Given the description of an element on the screen output the (x, y) to click on. 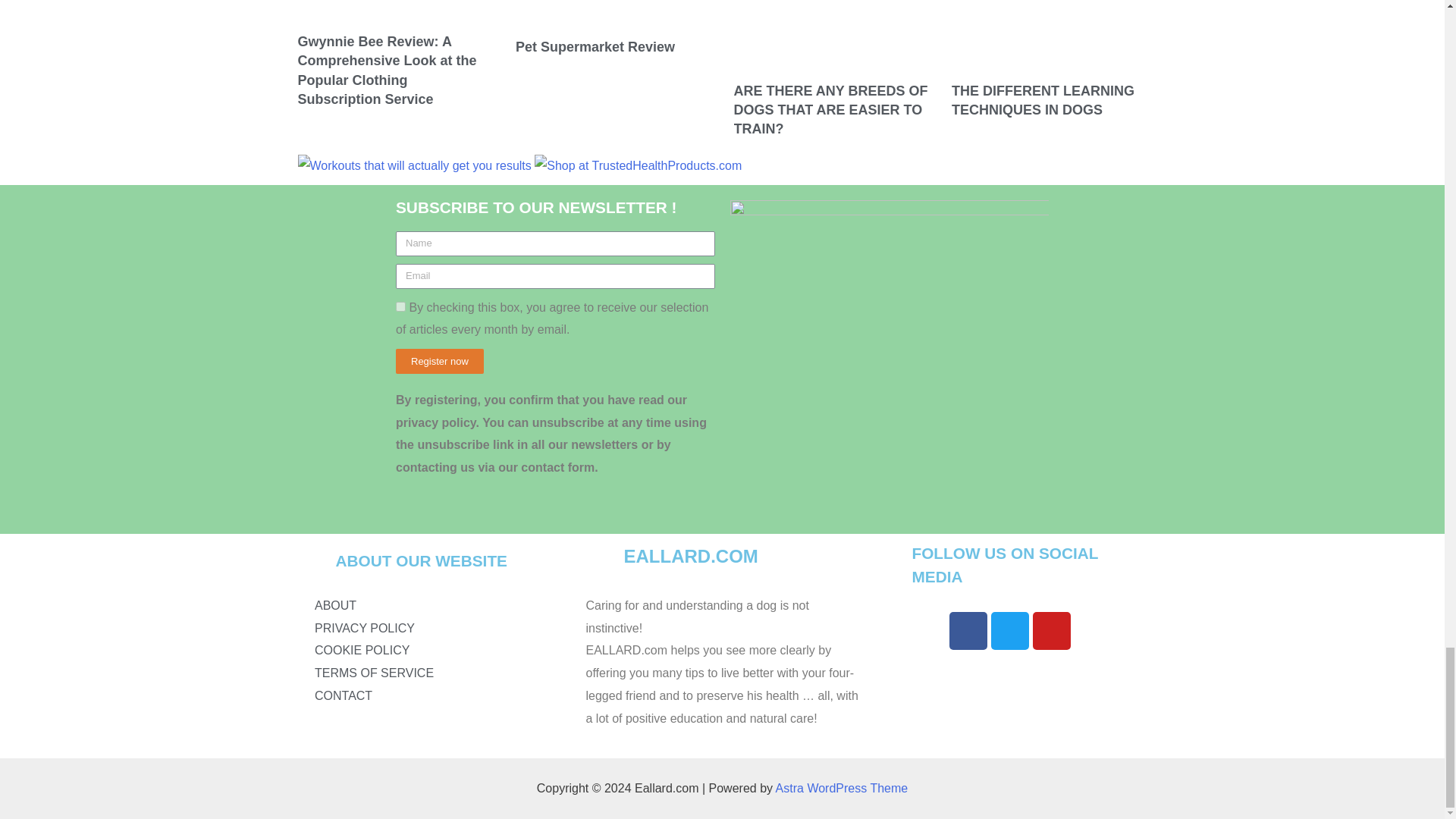
Shop at TrustedHealthProducts.com (637, 165)
Workouts that will actually get you results (414, 165)
